Given the description of an element on the screen output the (x, y) to click on. 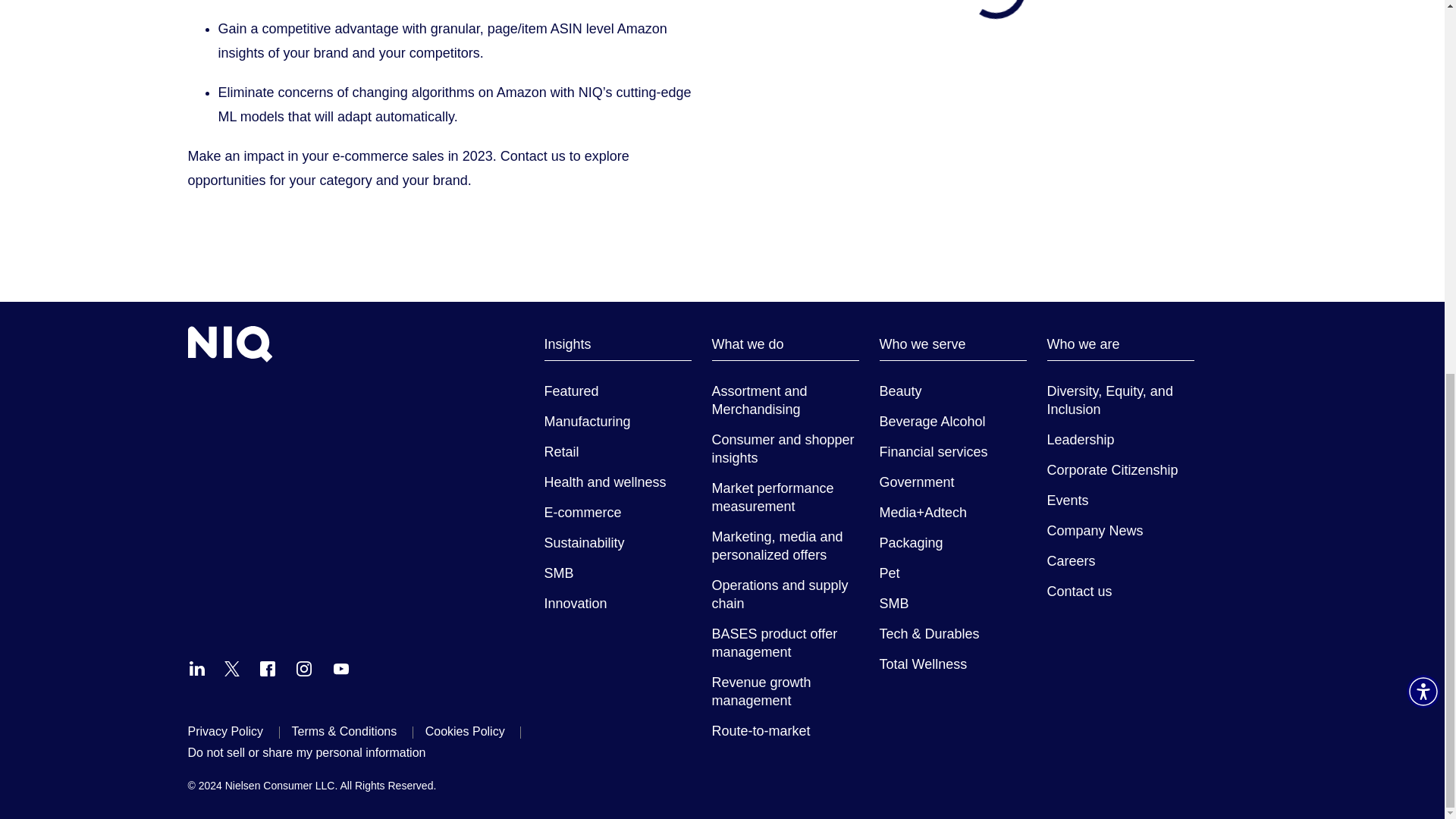
Accessibility Menu (1422, 12)
Instagram (304, 669)
Linkedin (196, 669)
YouTube (340, 669)
Facebook (266, 669)
